Given the description of an element on the screen output the (x, y) to click on. 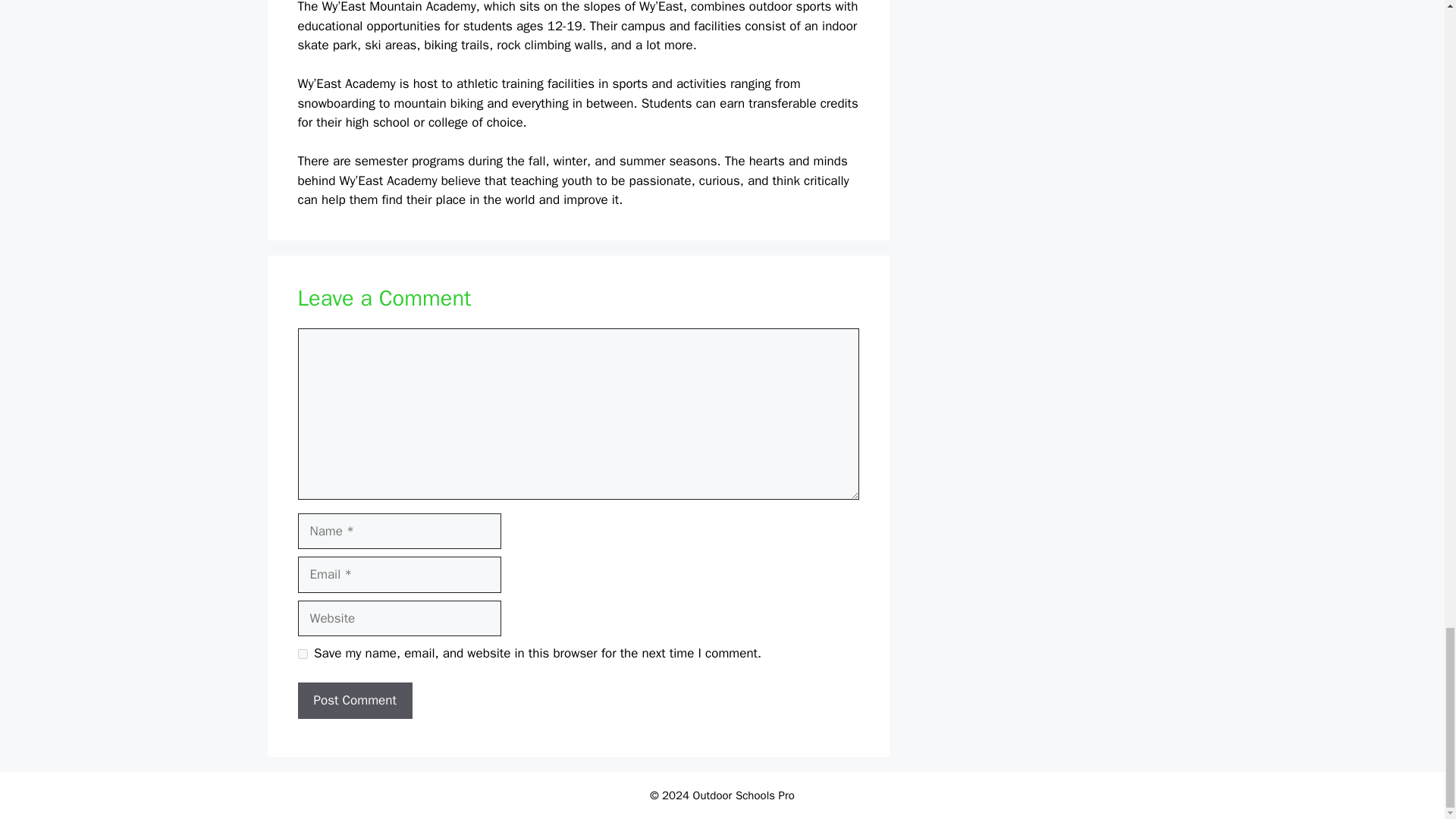
Post Comment (354, 700)
Post Comment (354, 700)
yes (302, 654)
